Given the description of an element on the screen output the (x, y) to click on. 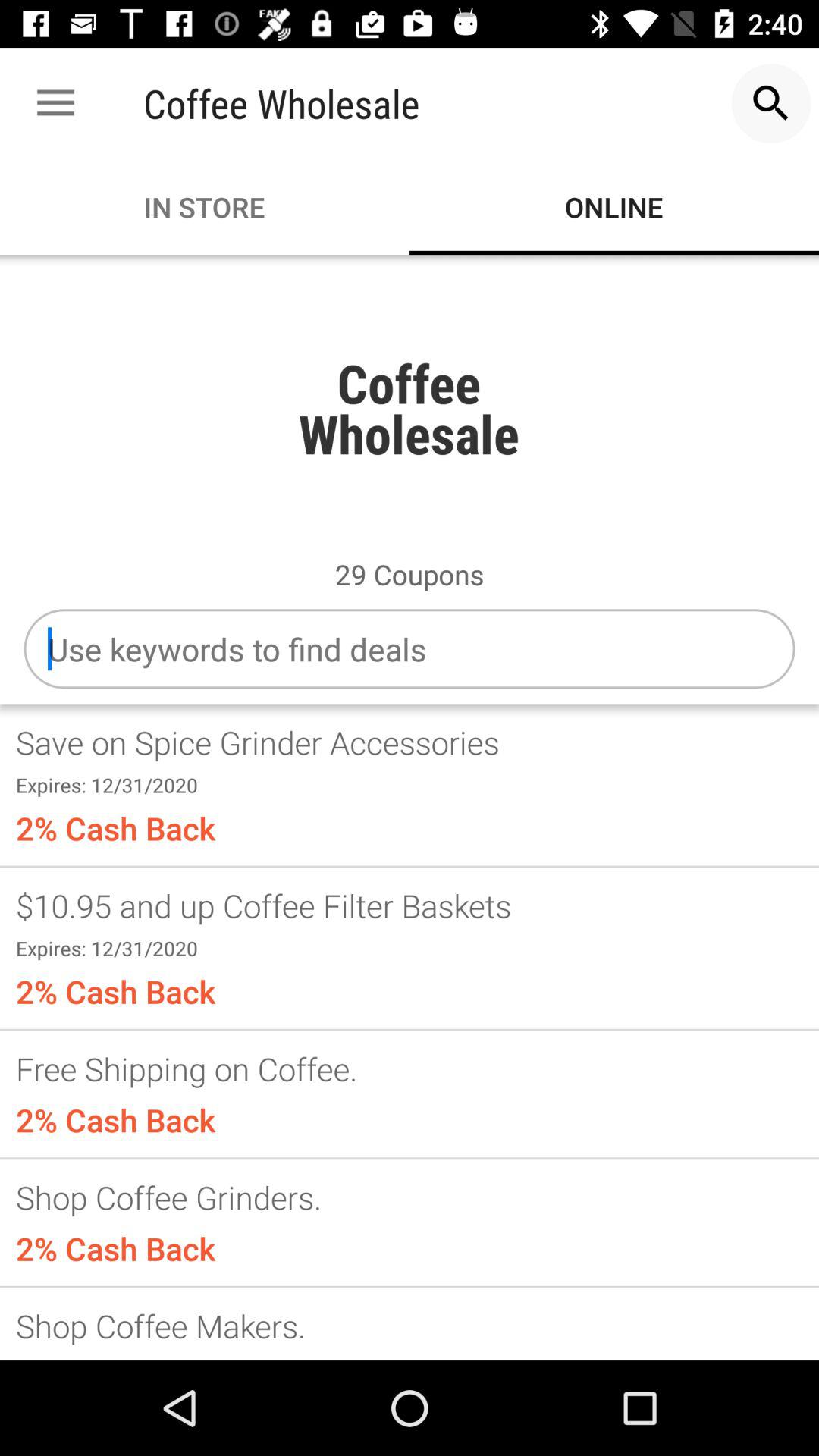
select the icon next to coffee wholesale icon (55, 103)
